Given the description of an element on the screen output the (x, y) to click on. 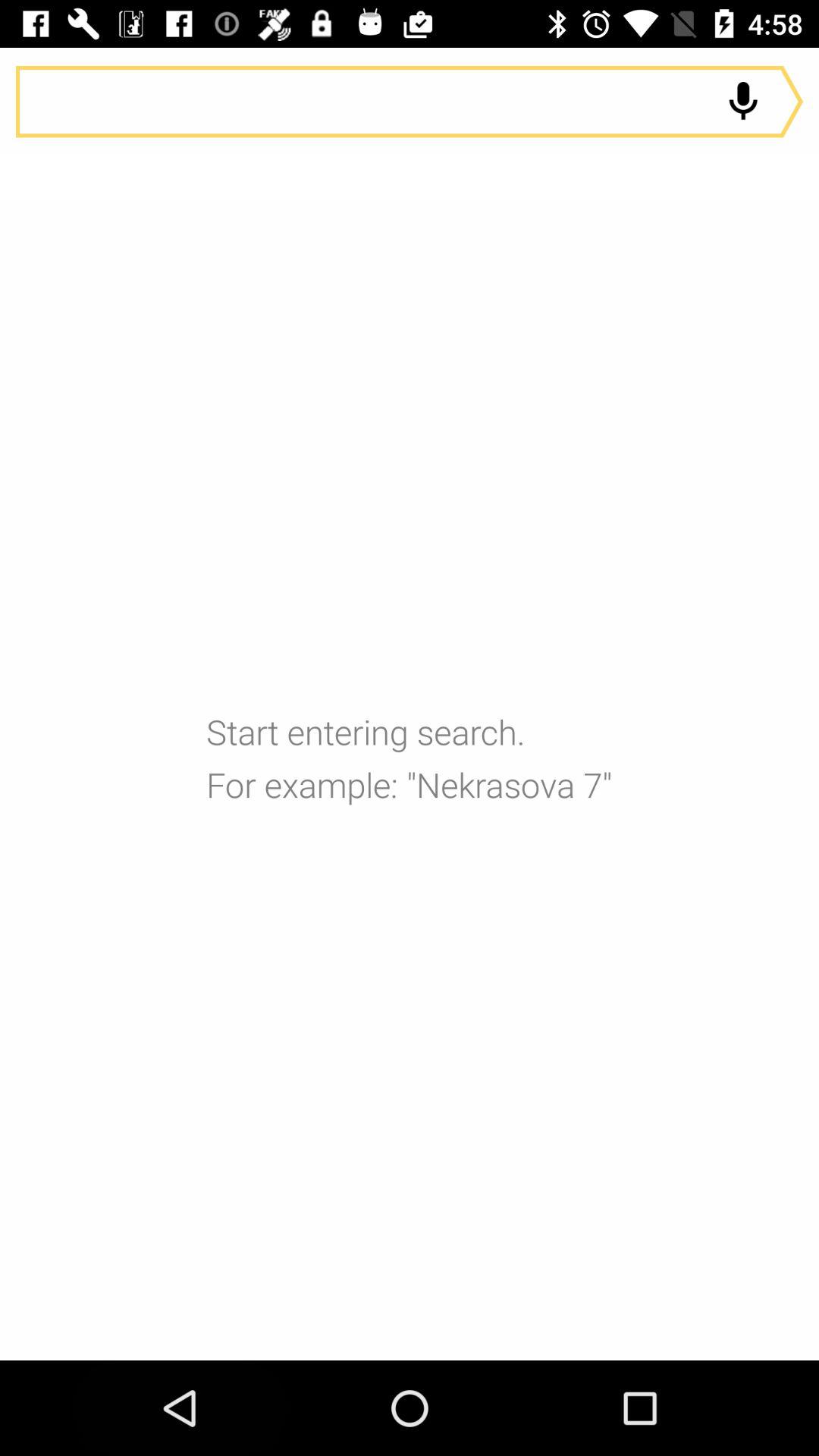
type or talk to search (409, 101)
